Given the description of an element on the screen output the (x, y) to click on. 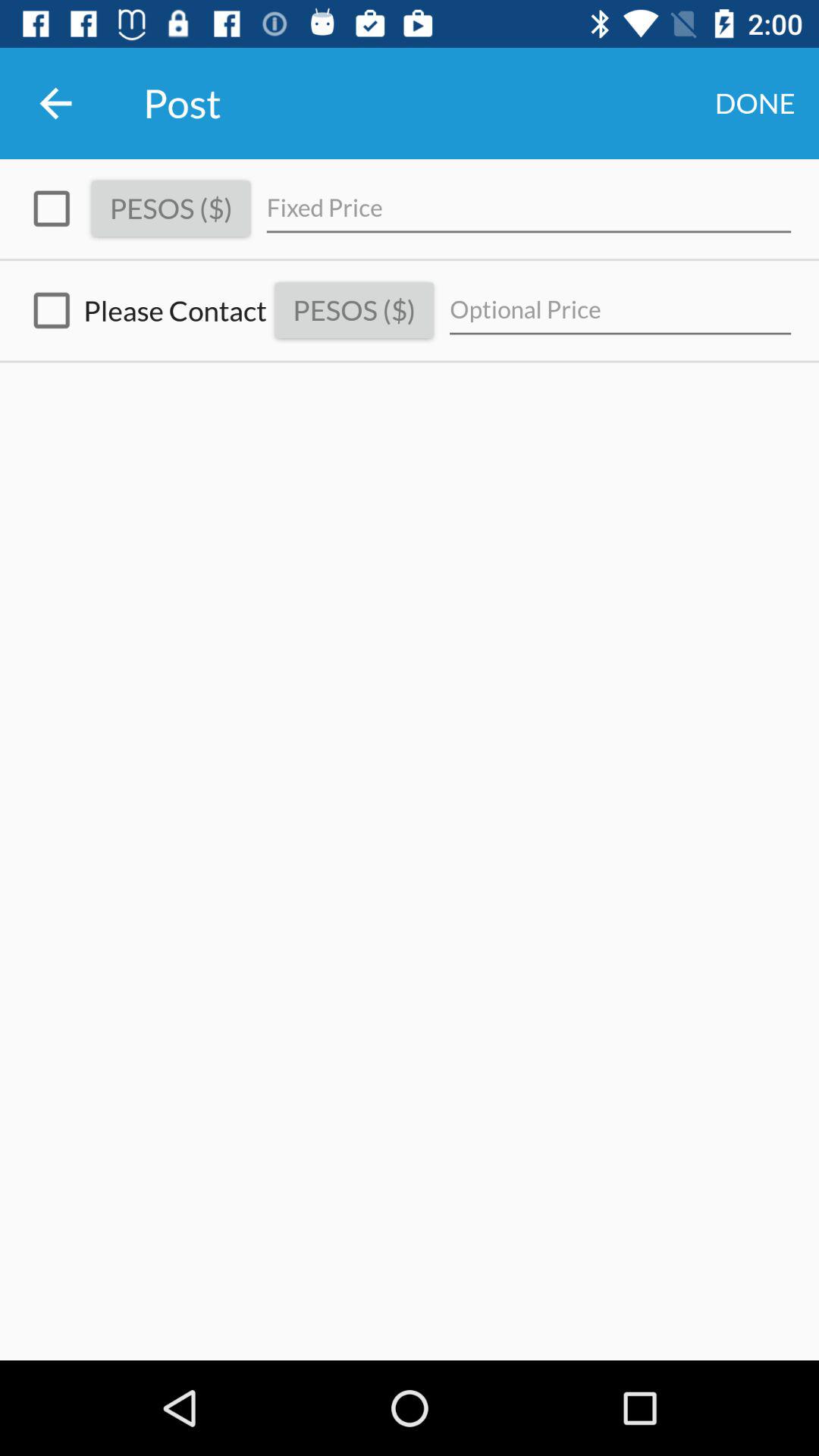
optional price (620, 310)
